Given the description of an element on the screen output the (x, y) to click on. 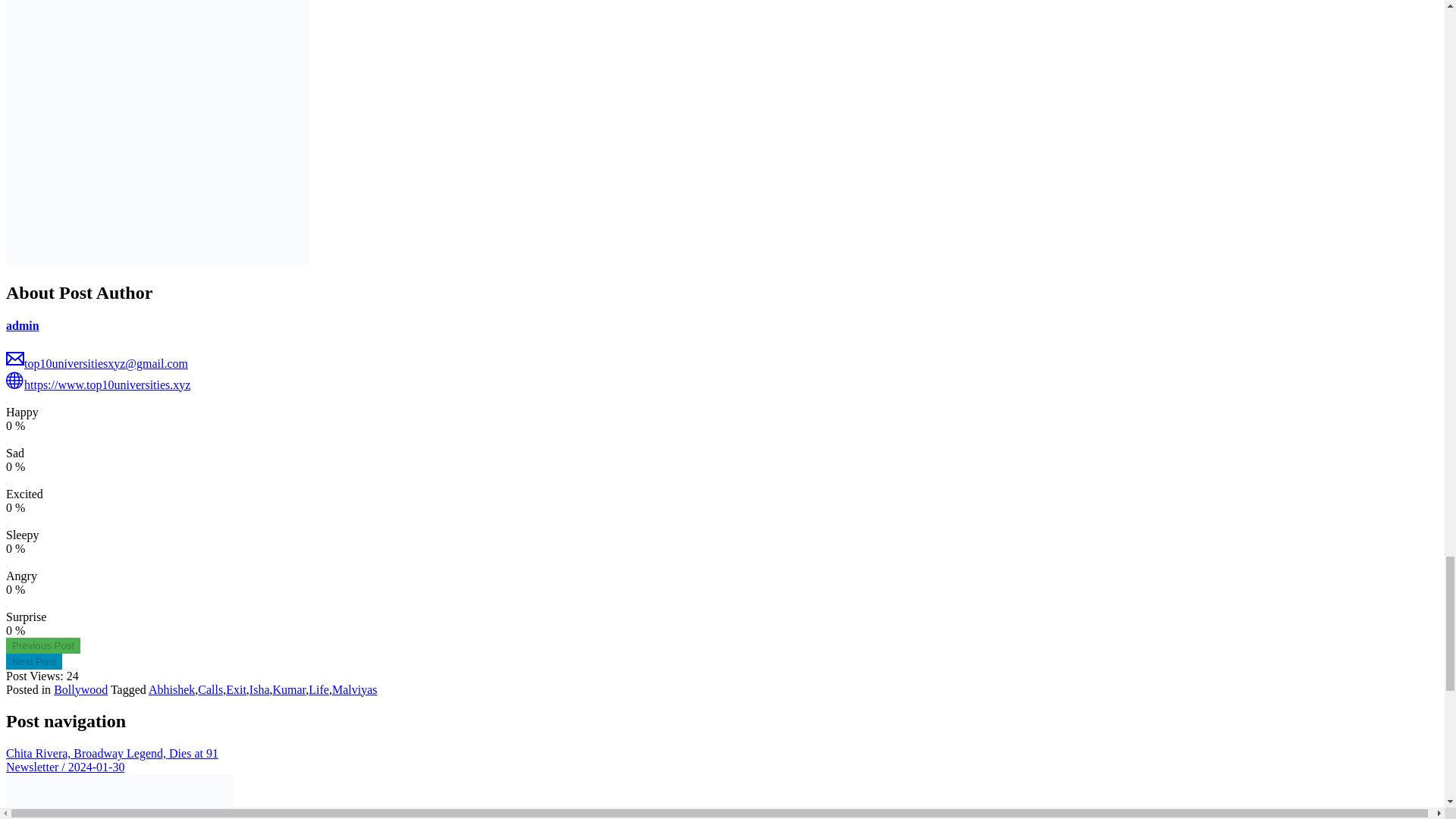
Previous Post (42, 644)
admin (22, 325)
Chita Rivera, Broadway Legend, Dies at 91 (42, 644)
